Given the description of an element on the screen output the (x, y) to click on. 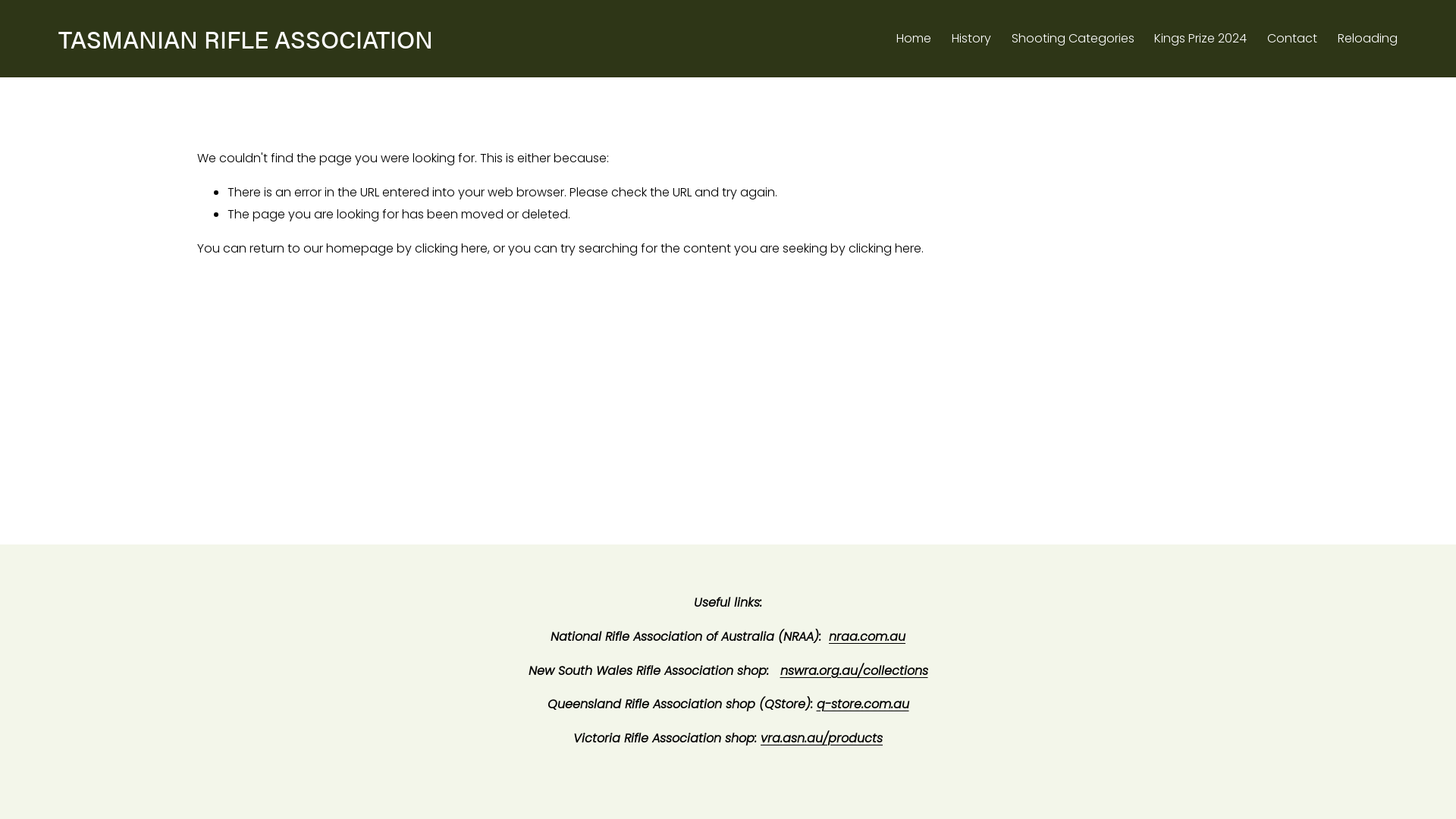
Home Element type: text (913, 38)
TASMANIAN RIFLE ASSOCIATION Element type: text (245, 38)
Reloading Element type: text (1367, 38)
clicking here Element type: text (450, 248)
nraa.com.au Element type: text (866, 637)
clicking here Element type: text (884, 248)
Contact Element type: text (1292, 38)
nswra.org.au/collections Element type: text (853, 671)
vra.asn.au/products Element type: text (821, 738)
q-store.com.au Element type: text (861, 704)
Shooting Categories Element type: text (1072, 38)
Kings Prize 2024 Element type: text (1200, 38)
History Element type: text (971, 38)
